Given the description of an element on the screen output the (x, y) to click on. 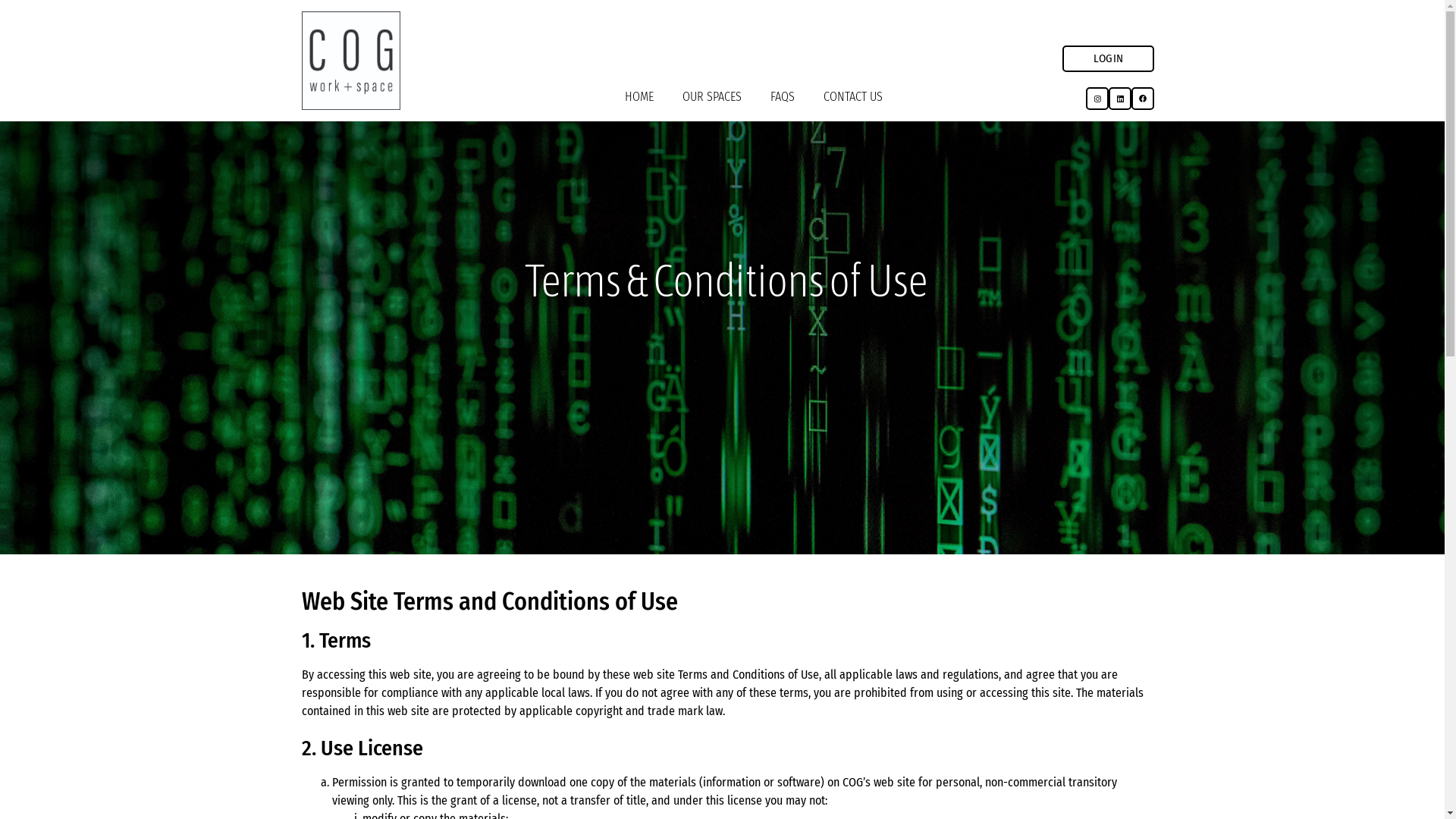
FAQS Element type: text (782, 96)
OUR SPACES Element type: text (711, 96)
CONTACT US Element type: text (852, 96)
LOGIN Element type: text (1108, 58)
HOME Element type: text (638, 96)
COG_logo_work+space_with_box Element type: hover (350, 60)
